Given the description of an element on the screen output the (x, y) to click on. 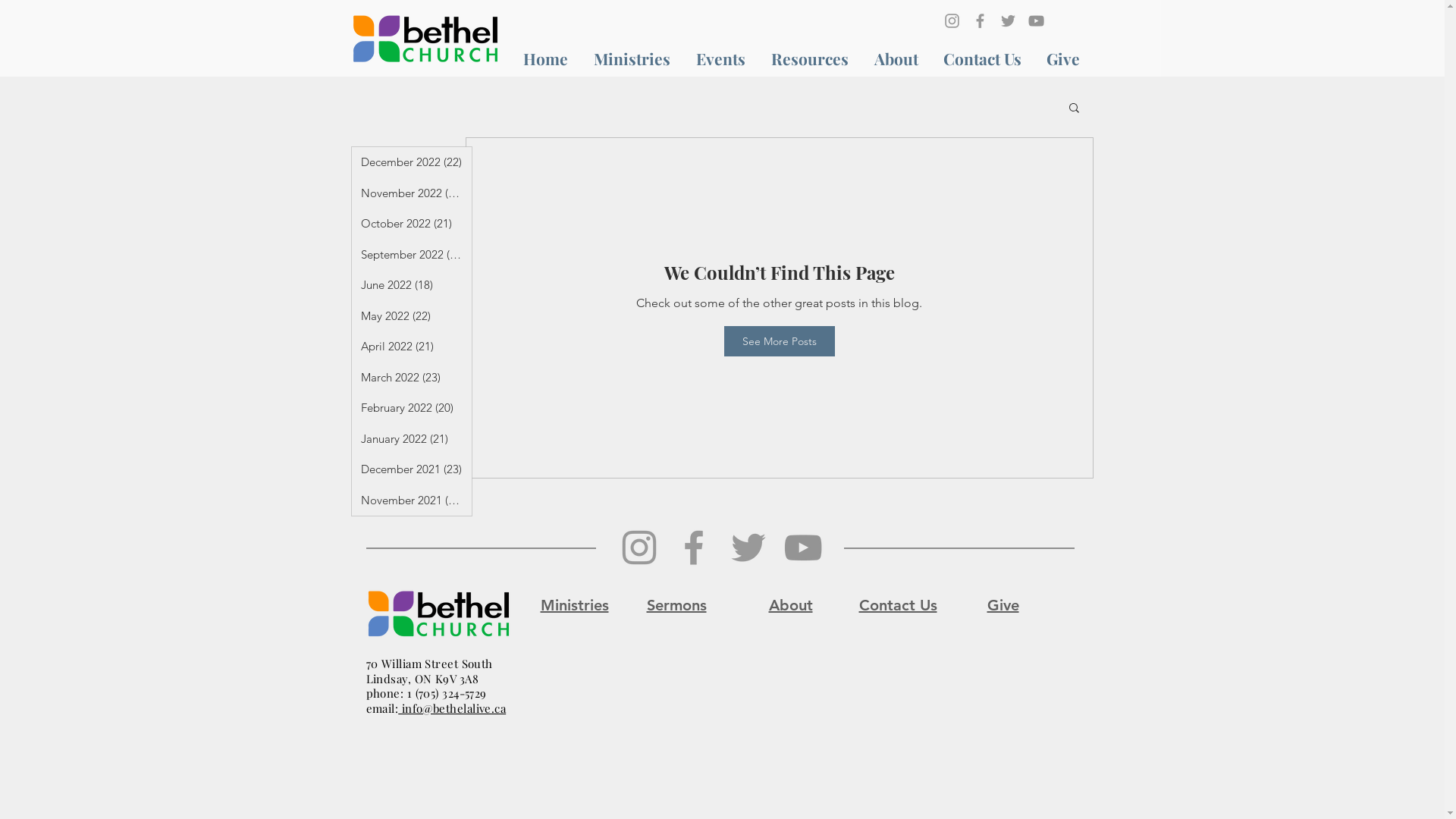
September 2022 (20) Element type: text (411, 254)
October 2022 (21) Element type: text (411, 223)
See More Posts Element type: text (778, 341)
Home Element type: text (544, 58)
Sermons Element type: text (676, 605)
January 2022 (21) Element type: text (411, 438)
Contact Us Element type: text (982, 58)
May 2022 (22) Element type: text (411, 315)
Events Element type: text (719, 58)
Contact Us Element type: text (897, 605)
November 2021 (22) Element type: text (411, 500)
February 2022 (20) Element type: text (411, 407)
December 2022 (22) Element type: text (411, 162)
Give Element type: text (1063, 58)
Ministries Element type: text (573, 605)
June 2022 (18) Element type: text (411, 285)
December 2021 (23) Element type: text (411, 469)
March 2022 (23) Element type: text (411, 377)
November 2022 (22) Element type: text (411, 192)
info@bethelalive.ca Element type: text (451, 707)
About Element type: text (790, 605)
April 2022 (21) Element type: text (411, 346)
About Element type: text (896, 58)
Give Element type: text (1003, 605)
